Given the description of an element on the screen output the (x, y) to click on. 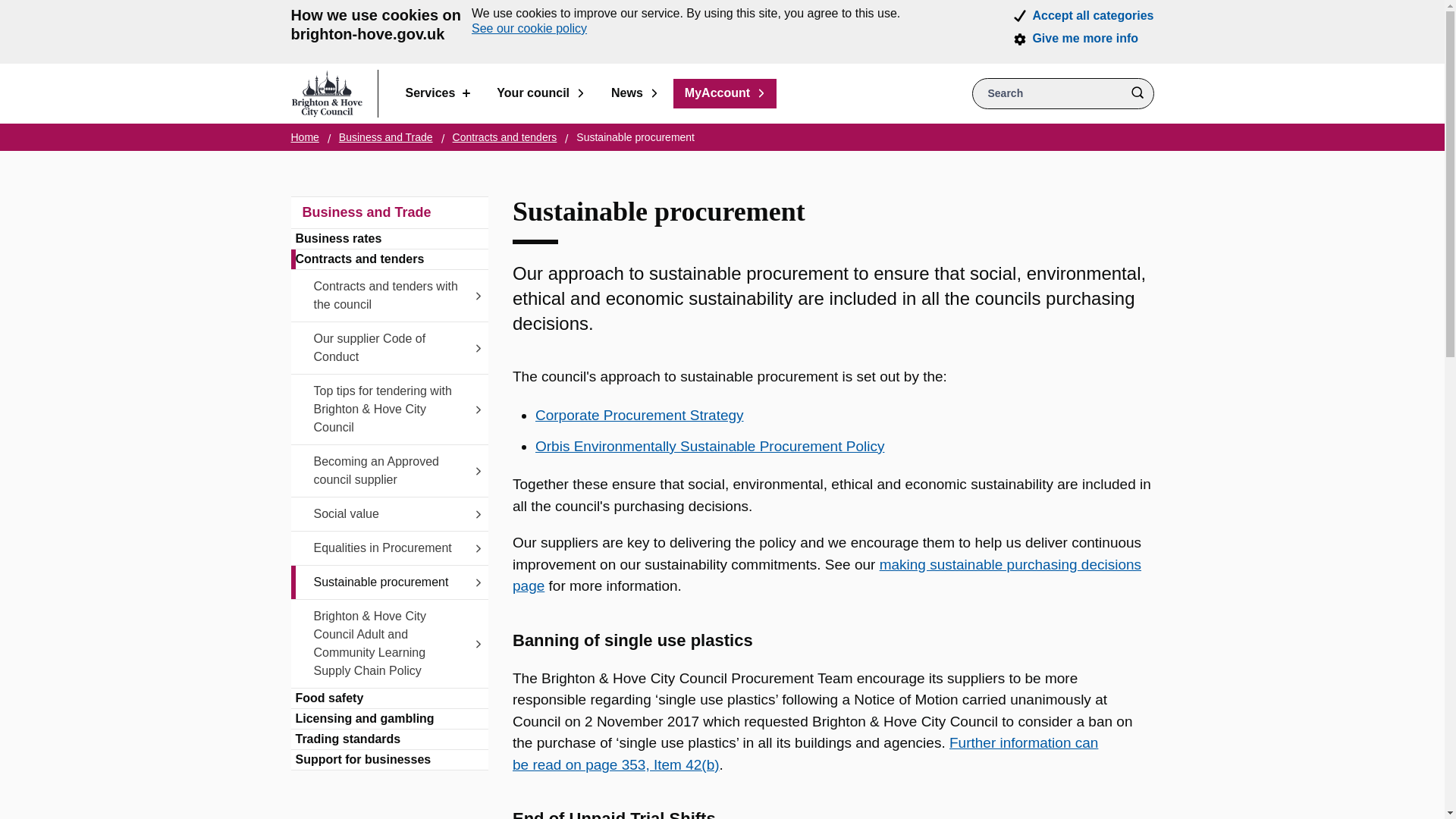
Your council (539, 92)
Search (1137, 93)
Skip to main content (11, 11)
Give me more info (1085, 38)
News (634, 92)
Enter the terms you wish to search for. (1063, 92)
Accept all categories (1092, 15)
See our cookie policy (528, 28)
MyAccount (724, 92)
